Given the description of an element on the screen output the (x, y) to click on. 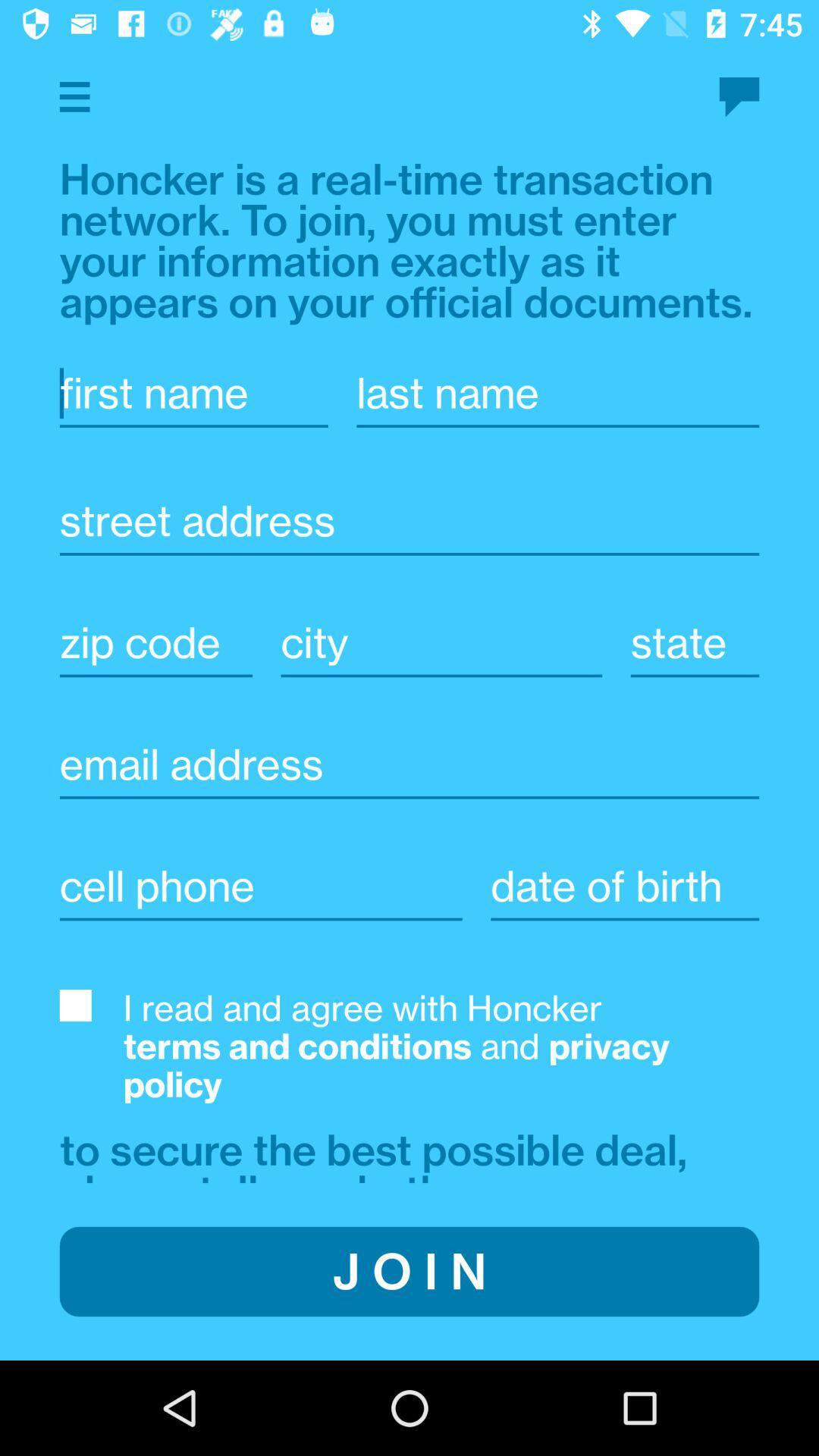
enter city (441, 642)
